Given the description of an element on the screen output the (x, y) to click on. 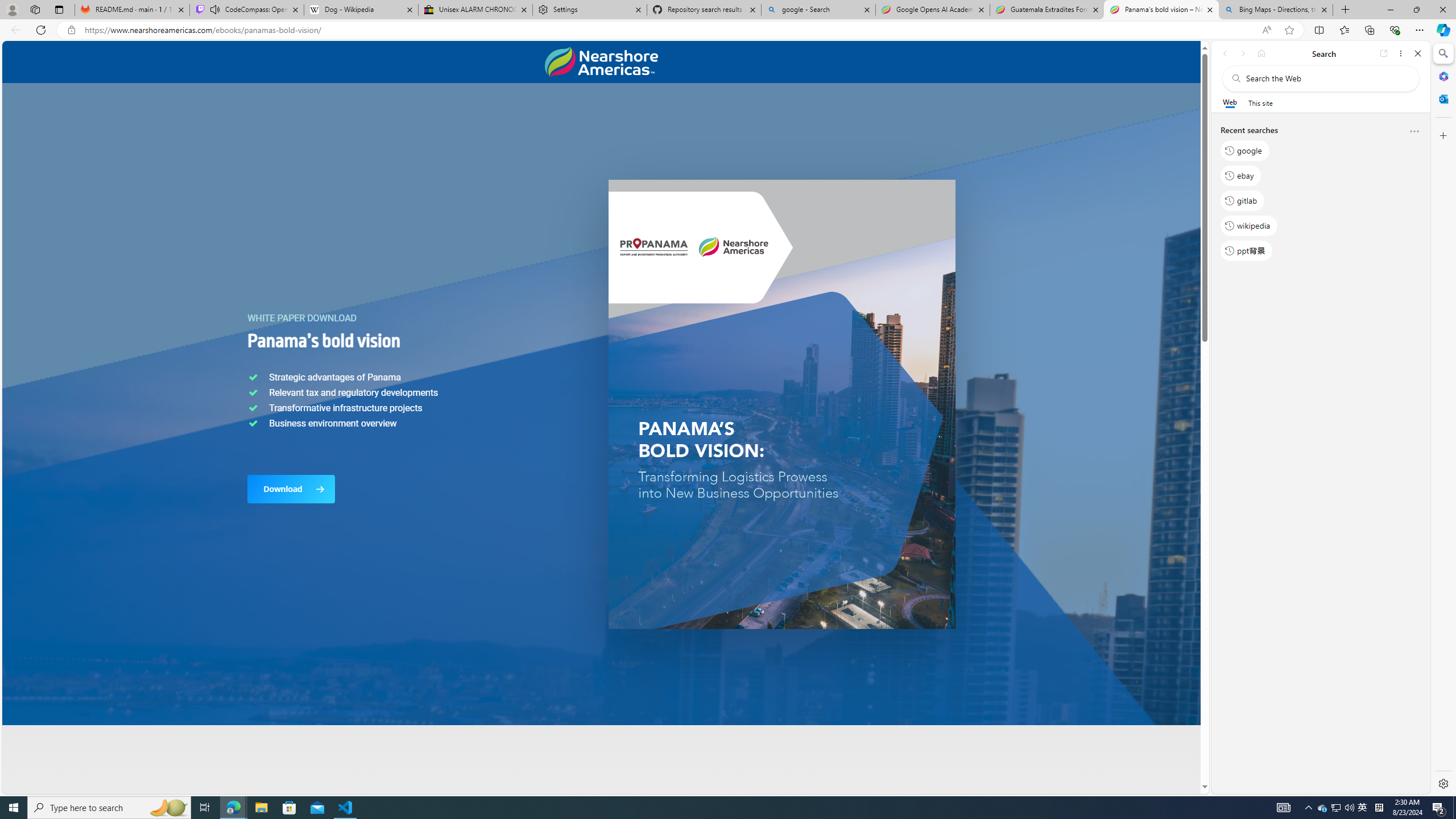
Back (1225, 53)
Search the web (1326, 78)
Google Opens AI Academy for Startups - Nearshore Americas (932, 9)
google (1244, 150)
Settings (1442, 783)
Home (1261, 53)
Address and search bar (669, 29)
Restore (1416, 9)
